Given the description of an element on the screen output the (x, y) to click on. 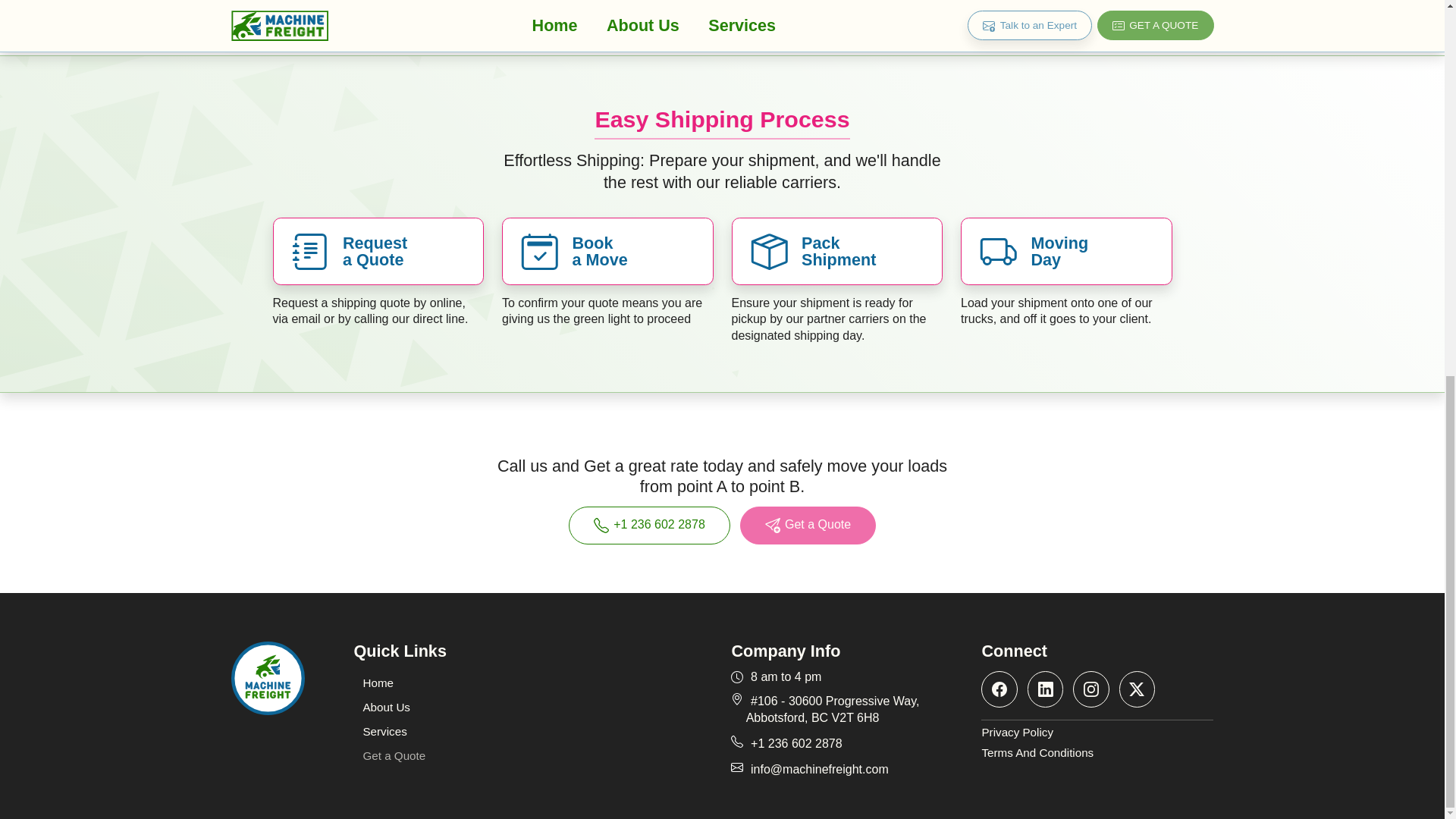
Home (378, 682)
Services (383, 731)
Privacy Policy (1096, 732)
About Us (386, 707)
Get a Quote (807, 524)
Get a Quote (393, 755)
Terms And Conditions (1096, 753)
